Given the description of an element on the screen output the (x, y) to click on. 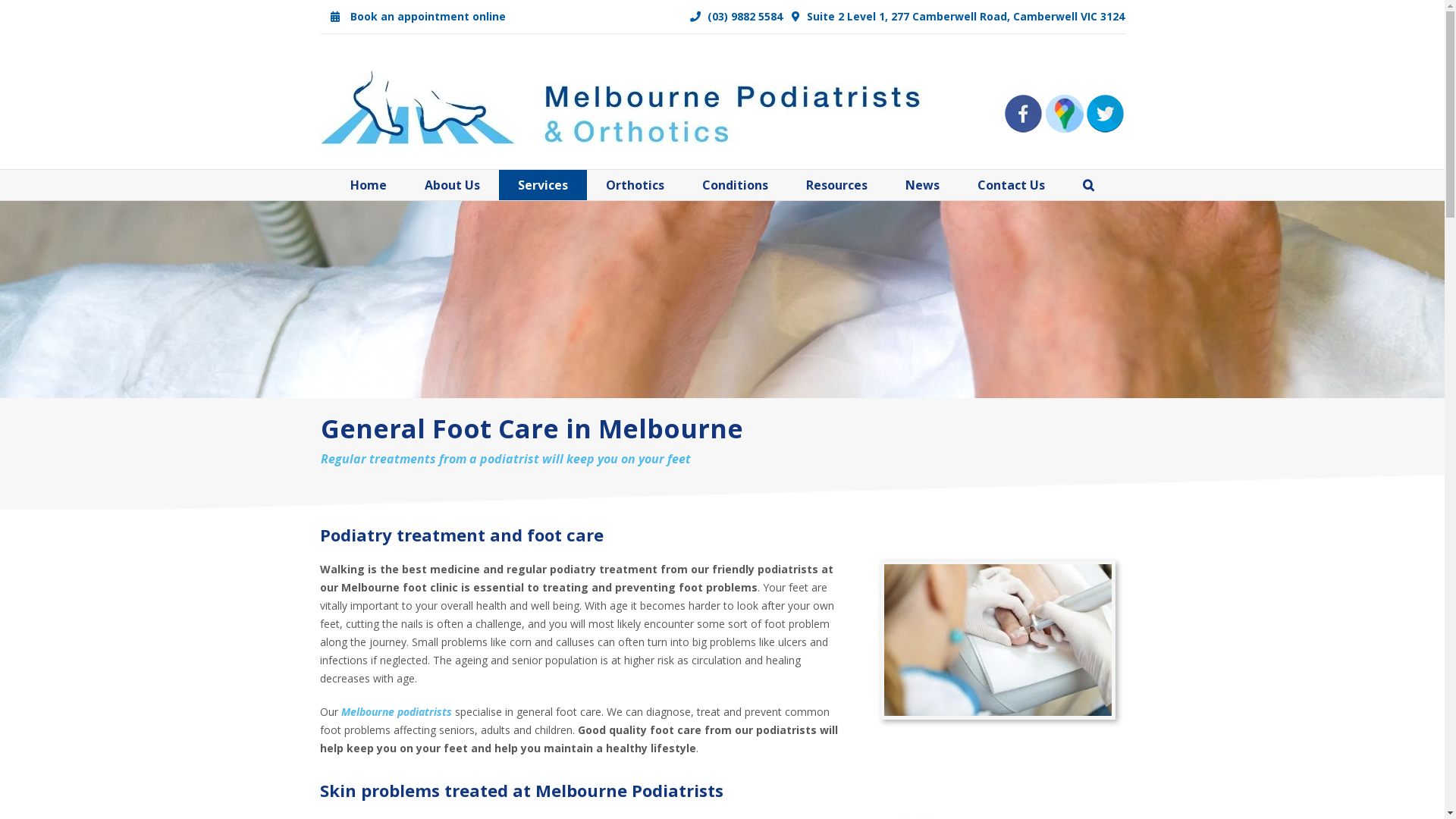
Search Element type: hover (1088, 184)
Services Element type: text (542, 184)
Resources Element type: text (836, 184)
Orthotics Element type: text (634, 184)
Book an appointment online Element type: text (417, 16)
Home Element type: text (368, 184)
Melbourne podiatrists Element type: text (396, 711)
Conditions Element type: text (735, 184)
Contact Us Element type: text (1010, 184)
News Element type: text (922, 184)
(03) 9882 5584 Element type: text (736, 16)
About Us Element type: text (452, 184)
